Given the description of an element on the screen output the (x, y) to click on. 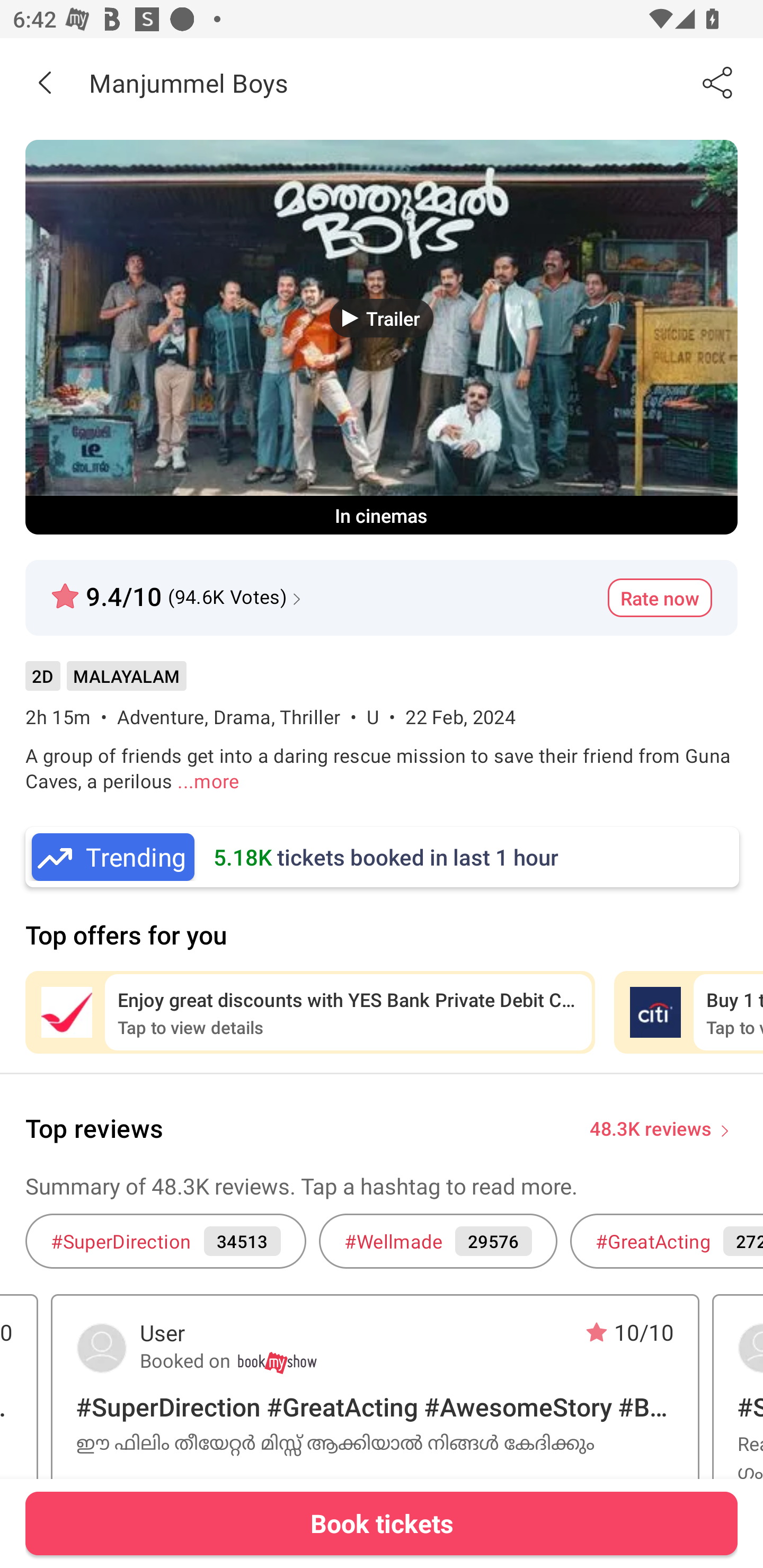
Back (44, 82)
Share (718, 82)
Movie Banner Trailer In cinemas (381, 336)
Trailer (381, 318)
9.4/10 (94.6K Votes) (178, 589)
Rate now (659, 597)
2D MALAYALAM (105, 682)
48.3K reviews (650, 1127)
#SuperDirection 34513 (165, 1240)
#Wellmade 29576 (437, 1240)
#GreatActing 27297 (666, 1240)
Book tickets (381, 1523)
